Given the description of an element on the screen output the (x, y) to click on. 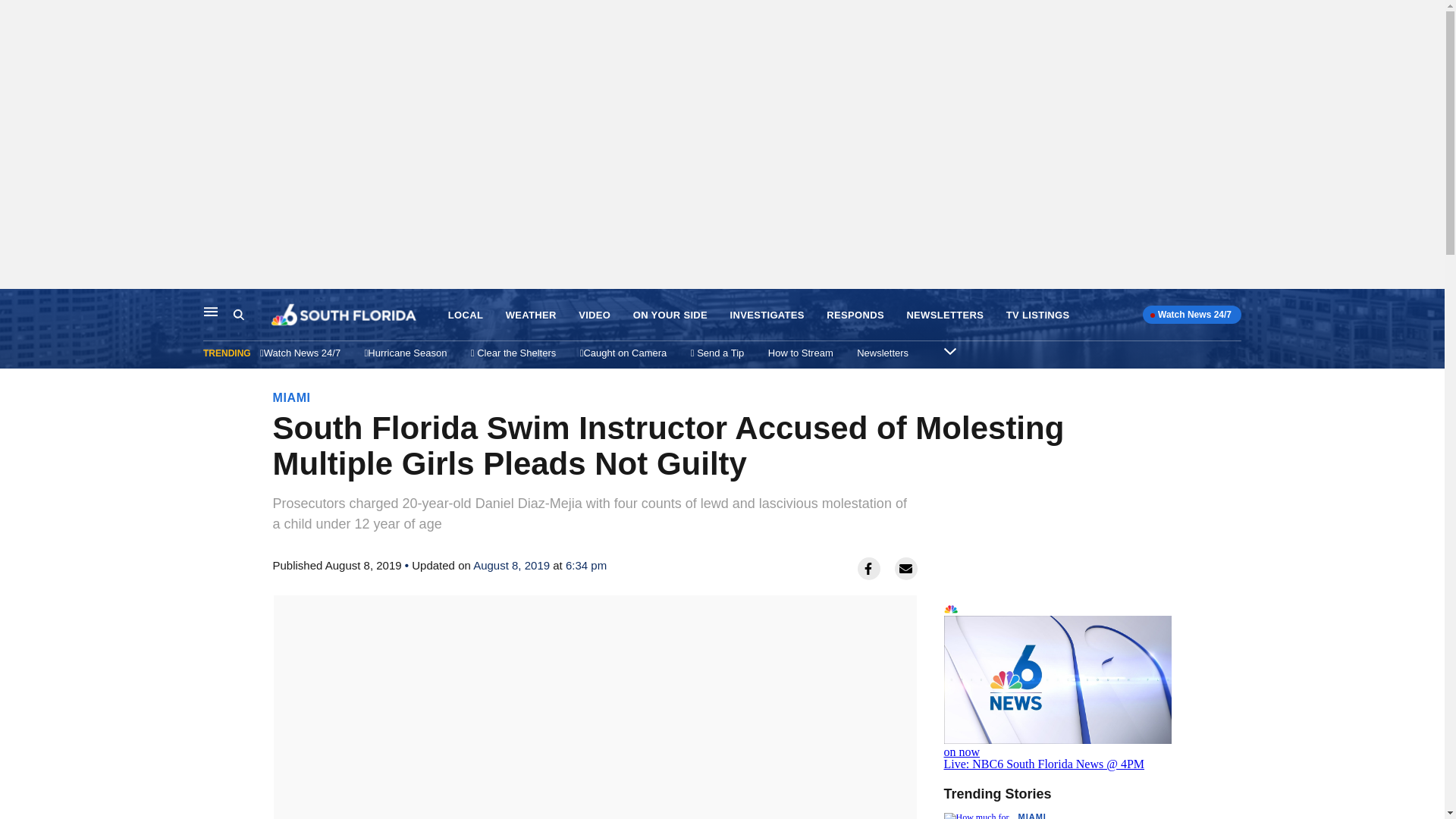
Expand (949, 350)
INVESTIGATES (767, 315)
Main Navigation (210, 311)
MIAMI (292, 397)
Skip to content (16, 304)
NEWSLETTERS (944, 315)
MIAMI (1031, 815)
ON YOUR SIDE (670, 315)
Search (238, 314)
Search (252, 314)
